Given the description of an element on the screen output the (x, y) to click on. 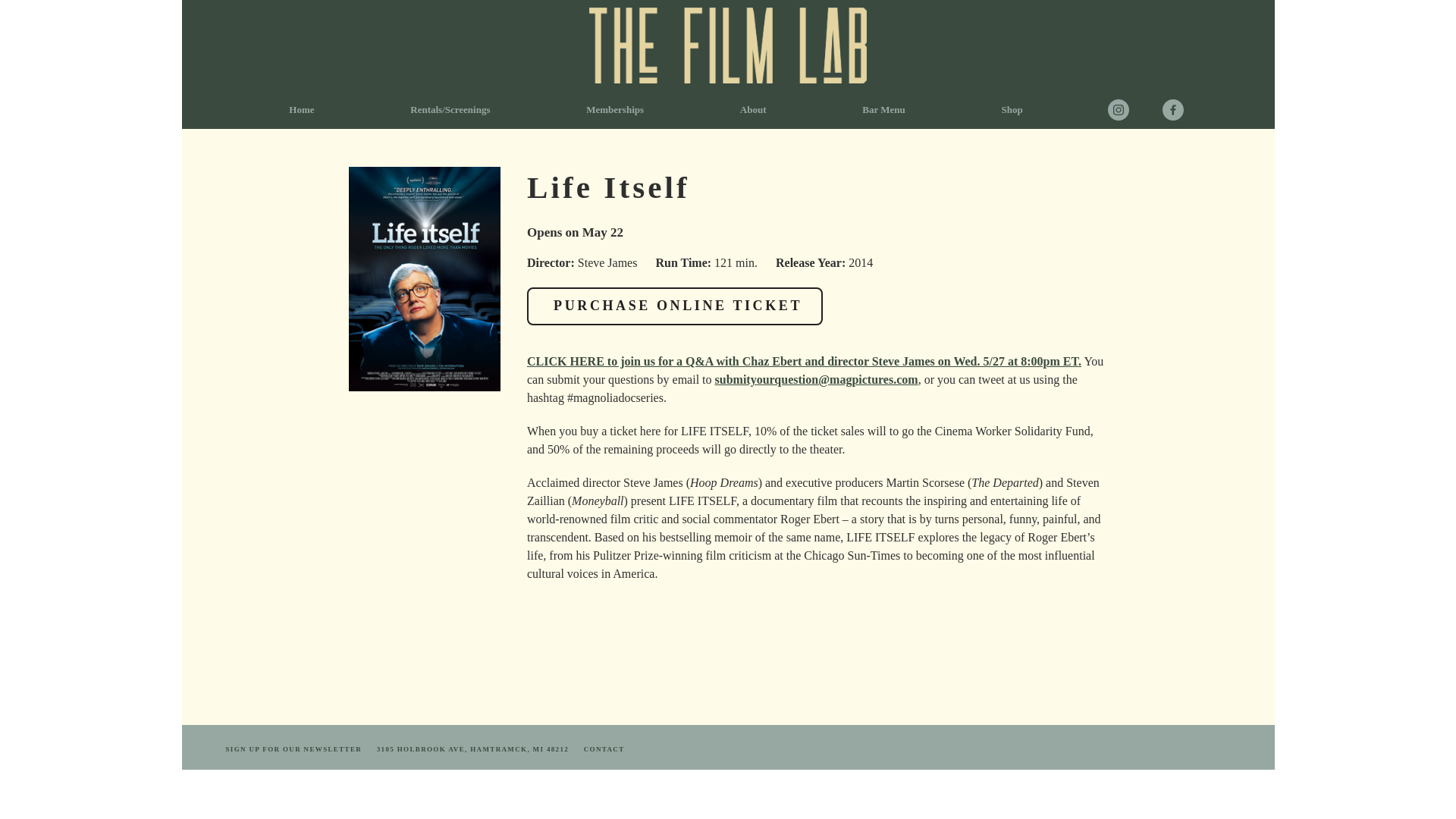
Bar Menu (883, 109)
instagram (1115, 107)
Shop (1012, 109)
Home (301, 109)
facebook (1169, 107)
Memberships (614, 109)
twitter (1142, 107)
About (753, 109)
